Given the description of an element on the screen output the (x, y) to click on. 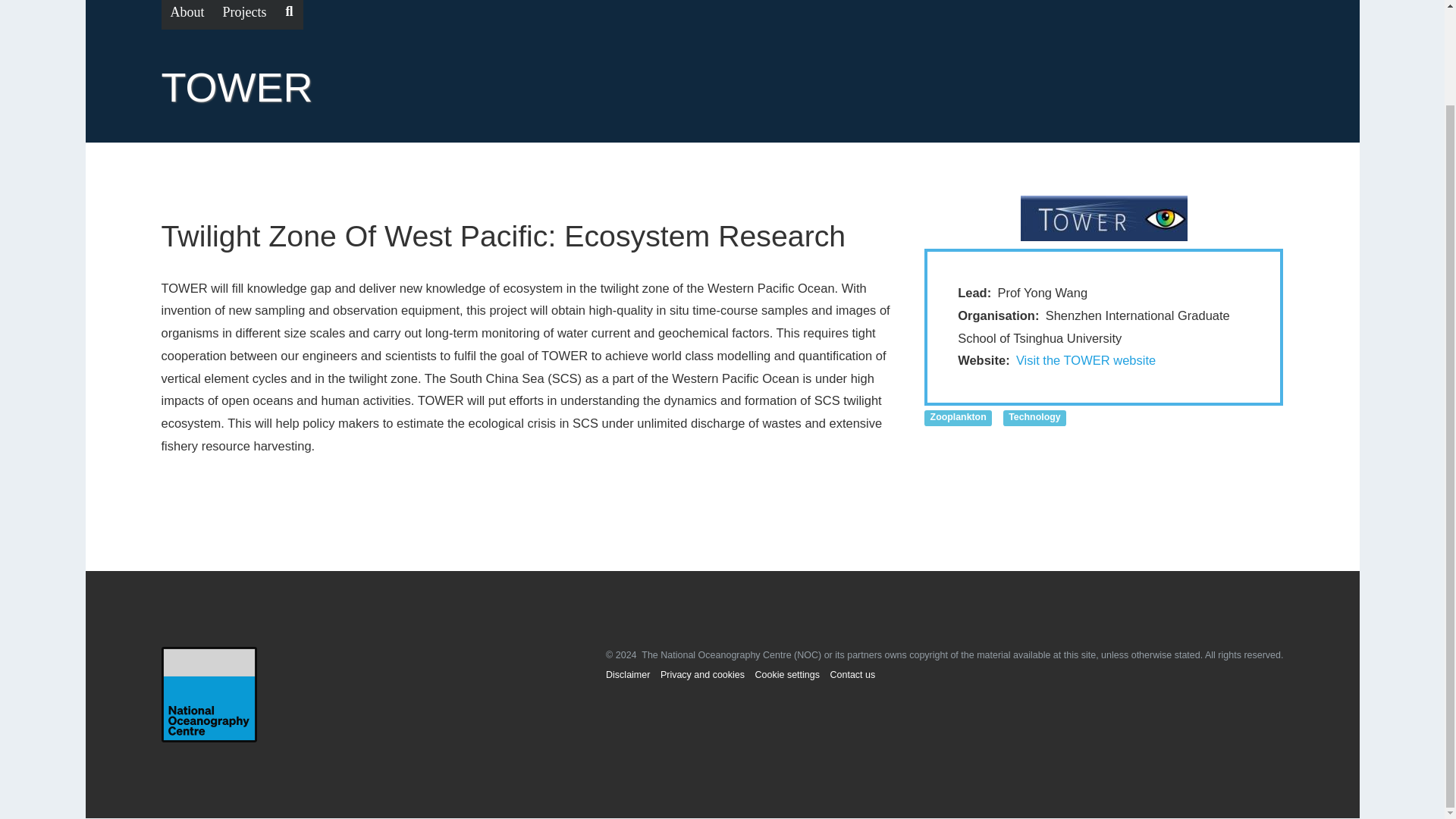
Cookie settings (787, 674)
Disclaimer (627, 674)
Contact us (852, 674)
Visit the TOWER website (1086, 359)
Zooplankton (957, 416)
Technology (1034, 416)
About (186, 14)
Search (289, 14)
Privacy and cookies (702, 674)
Projects (245, 14)
